Given the description of an element on the screen output the (x, y) to click on. 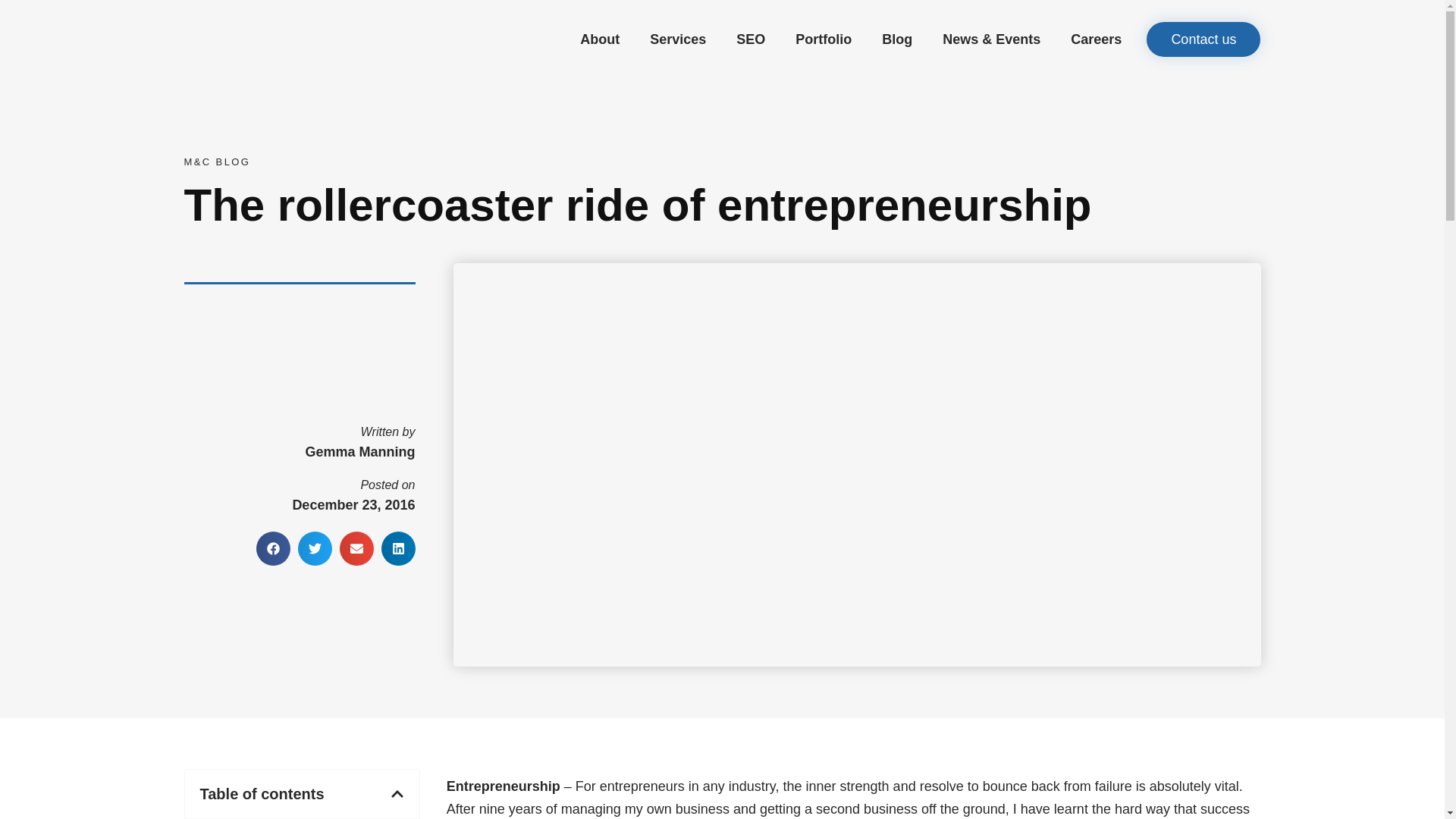
Contact us (1203, 39)
Blog (896, 38)
Services (677, 38)
SEO (750, 38)
About (599, 38)
Careers (1096, 38)
Portfolio (823, 38)
